Given the description of an element on the screen output the (x, y) to click on. 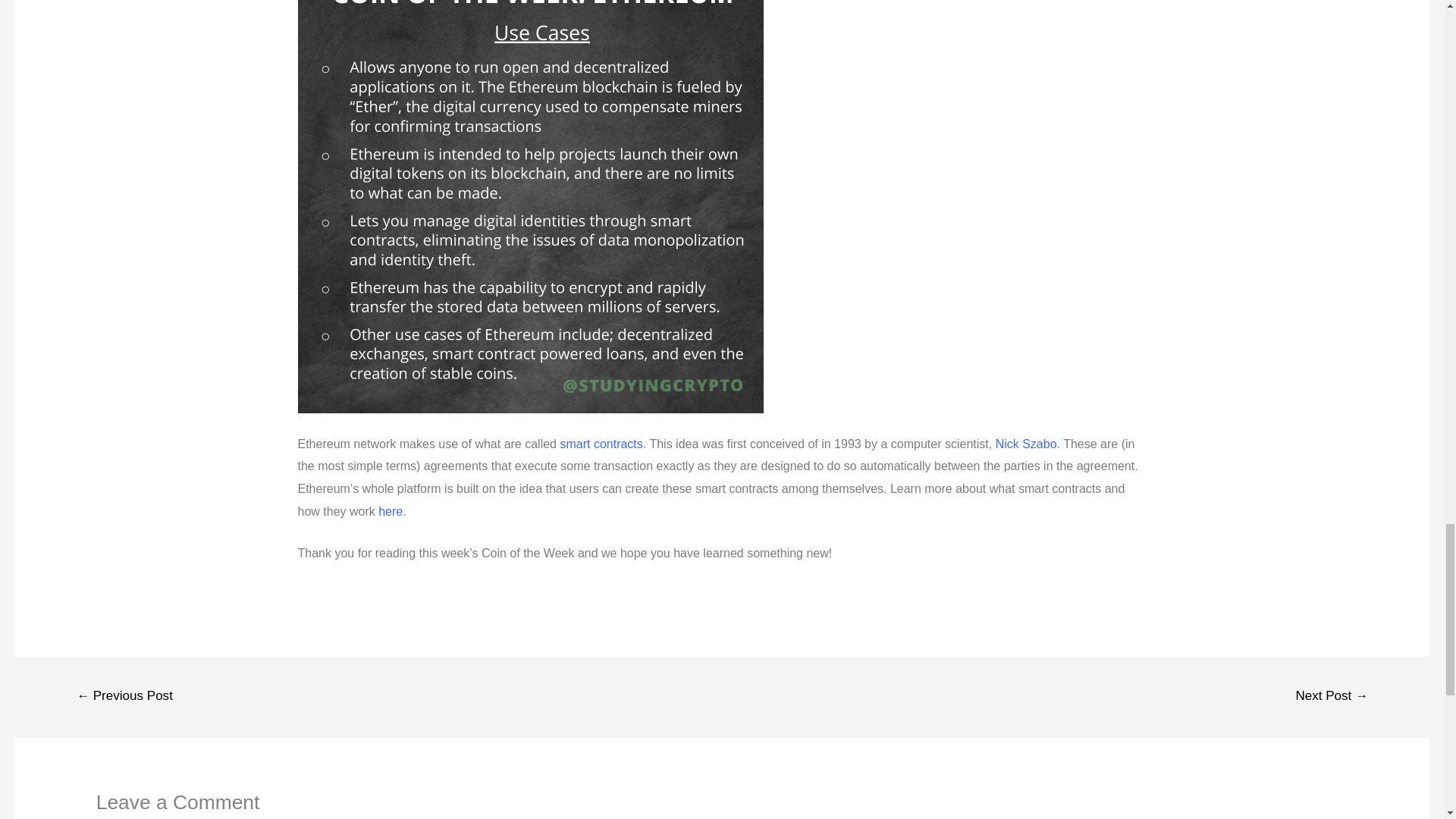
Nick Szabo (1026, 442)
smart contracts (600, 442)
here (390, 511)
